Given the description of an element on the screen output the (x, y) to click on. 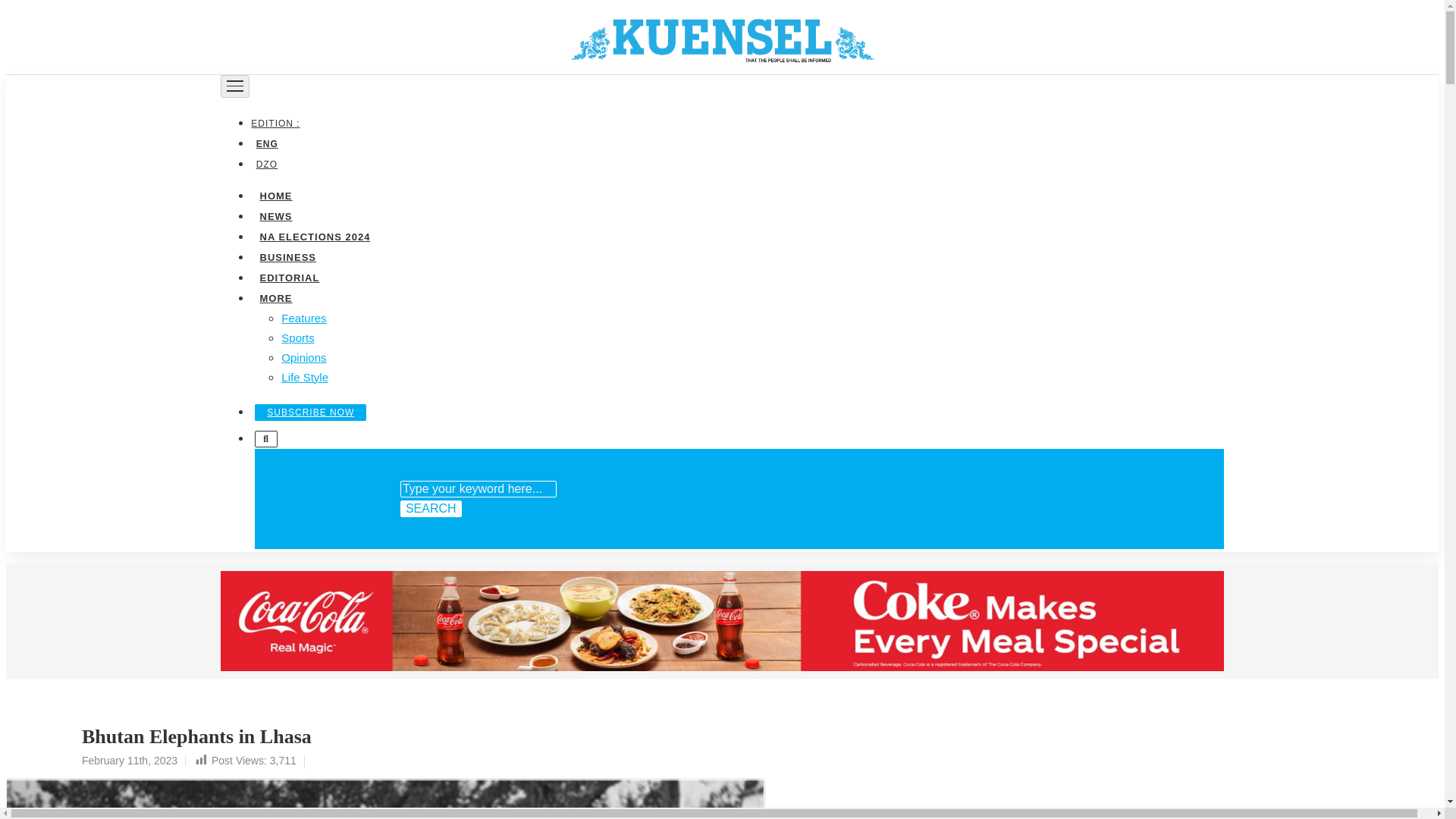
Opinions (303, 356)
Features (303, 317)
SEARCH (430, 508)
EDITORIAL (288, 276)
EDITION : (277, 122)
NEWS (274, 215)
BUSINESS (287, 256)
Life Style (305, 376)
MORE (274, 297)
DZO (266, 163)
HOME (274, 194)
Sports (297, 336)
NA ELECTIONS 2024 (314, 235)
SUBSCRIBE NOW (310, 411)
ENG (266, 143)
